Given the description of an element on the screen output the (x, y) to click on. 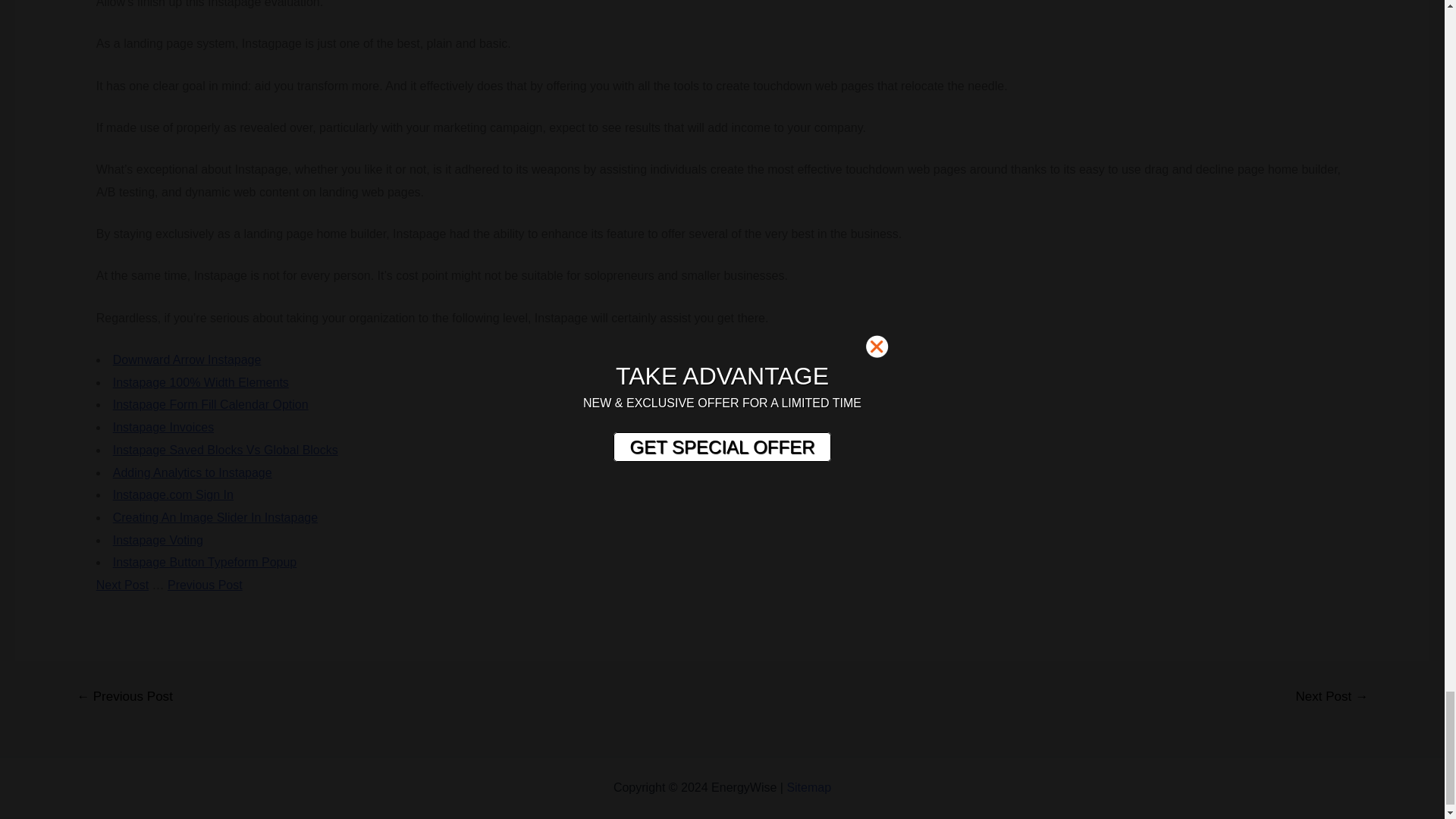
Instapage.com Sign In (172, 494)
Next Post (122, 584)
Adding Analytics to Instapage (192, 472)
Instapage Form Fill Calendar Option (210, 404)
Creating An Image Slider In Instapage (215, 517)
Adding Analytics to Instapage (192, 472)
Instapage Saved Blocks Vs Global Blocks (225, 449)
Instapage Form Fill Calendar Option (210, 404)
Instapage Voting (158, 540)
Instapage Saved Blocks Vs Global Blocks (225, 449)
Creating An Image Slider In Instapage (215, 517)
Sitemap (808, 787)
Instapage.com Sign In (172, 494)
Instapage Button Typeform Popup (205, 562)
Downward Arrow Instapage (187, 359)
